Given the description of an element on the screen output the (x, y) to click on. 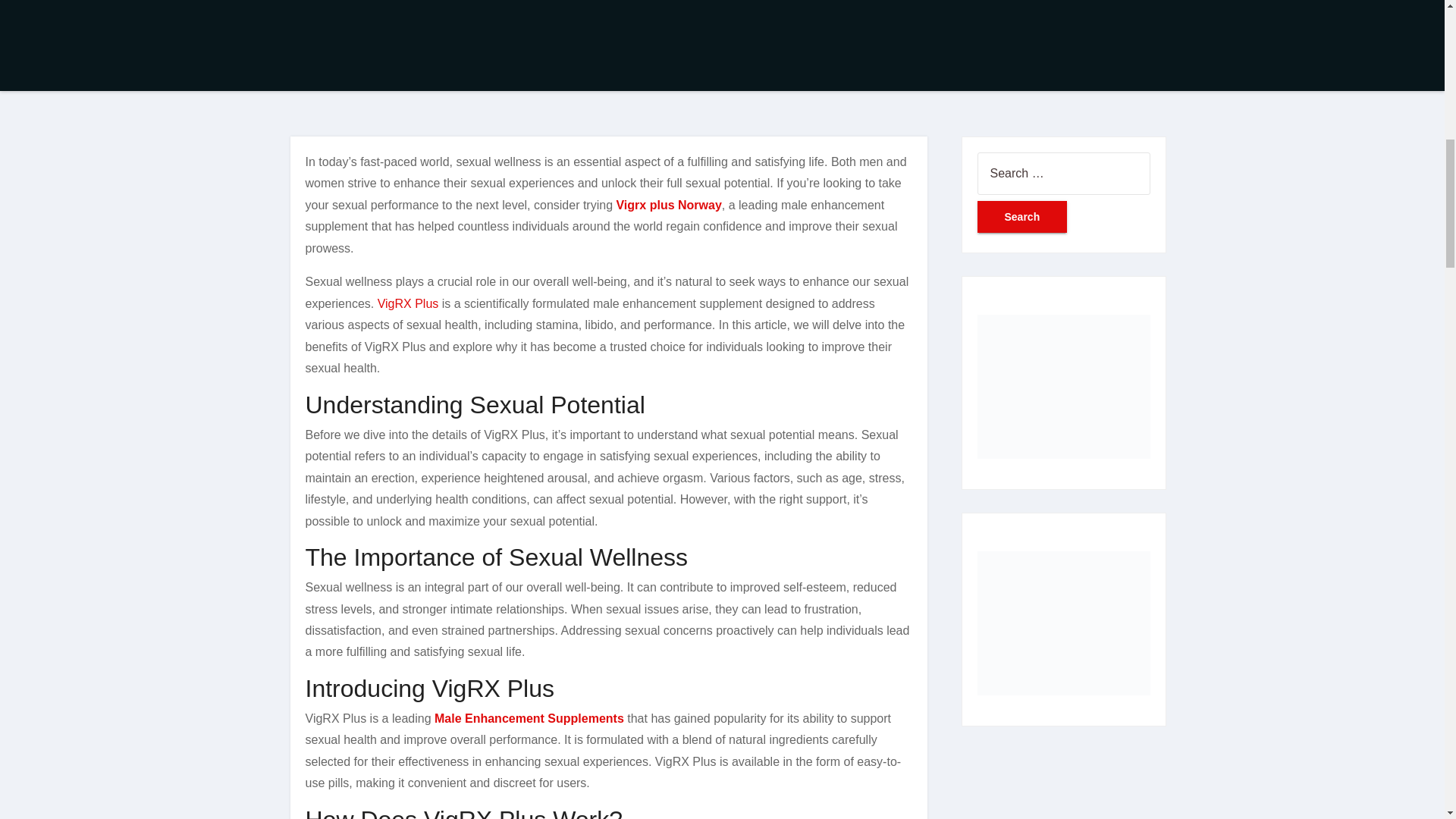
Male Enhancement Supplements (528, 717)
Search (1021, 216)
VigRX Plus (408, 303)
Vigrx plus Norway (667, 205)
Search (1021, 216)
